Given the description of an element on the screen output the (x, y) to click on. 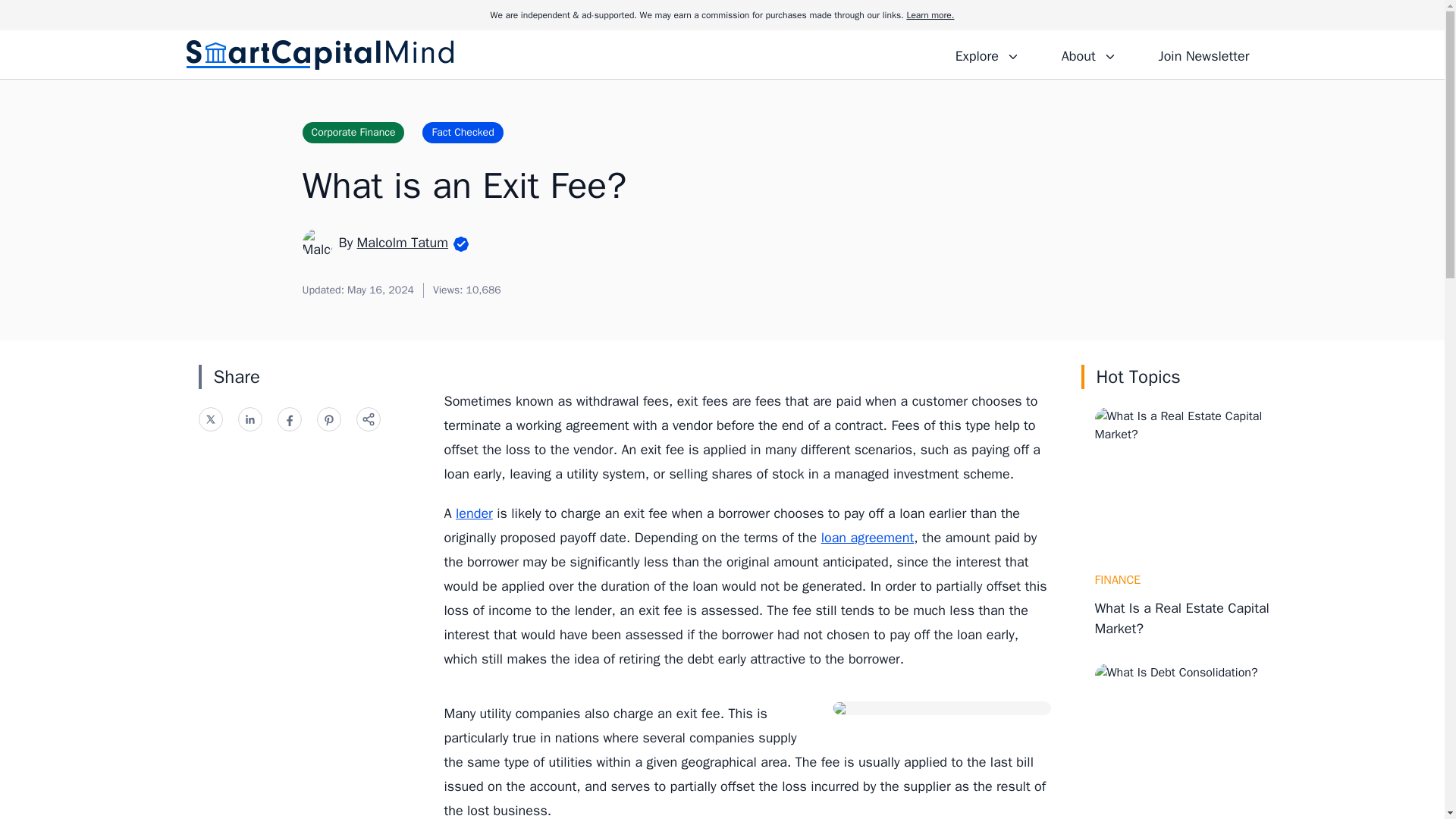
Corporate Finance (352, 132)
Join Newsletter (1202, 54)
Explore (986, 54)
Malcolm Tatum (402, 242)
About (1088, 54)
Fact Checked (462, 132)
Learn more. (929, 15)
